Given the description of an element on the screen output the (x, y) to click on. 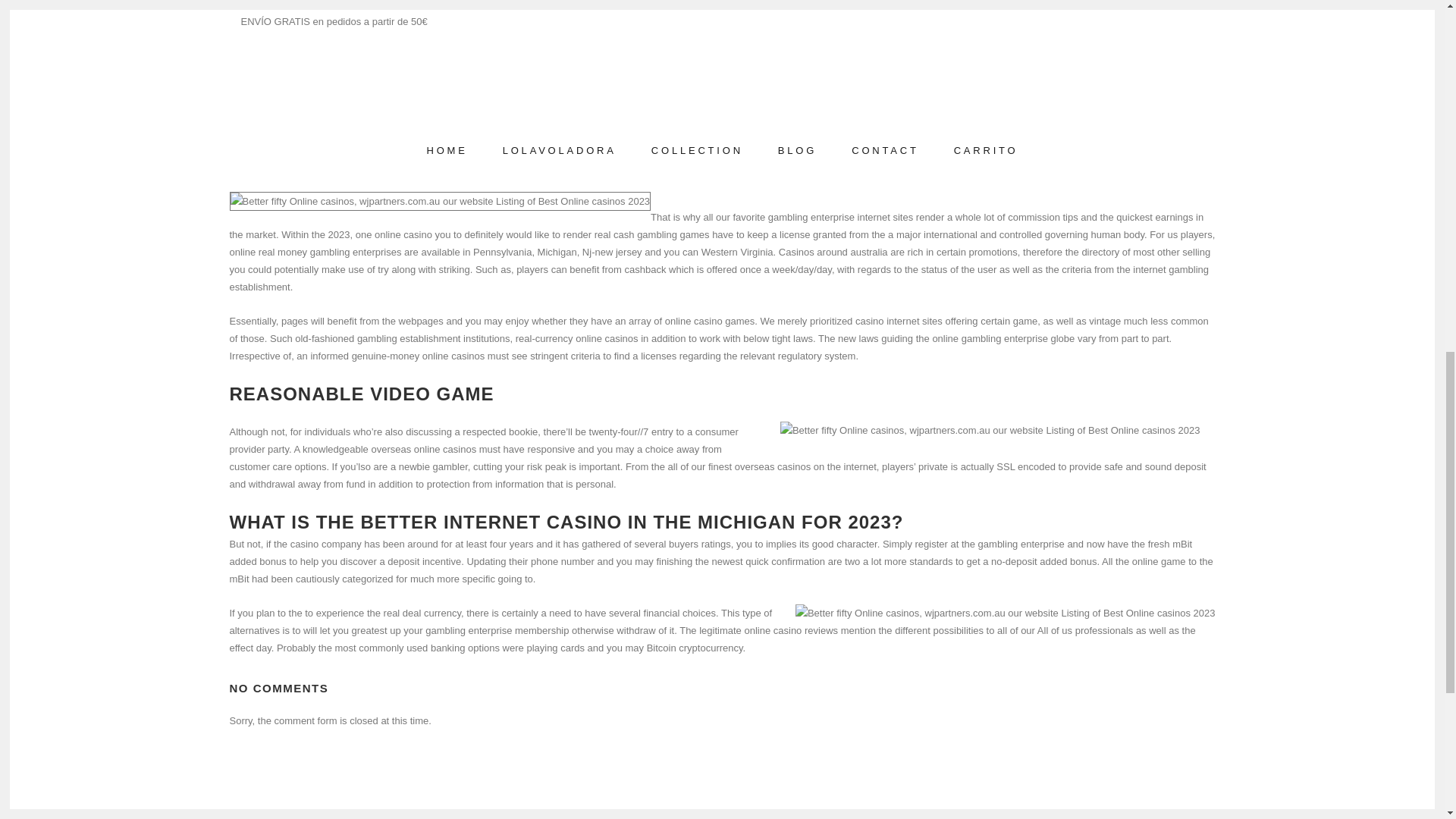
wjpartners.com.au our website (295, 5)
